Given the description of an element on the screen output the (x, y) to click on. 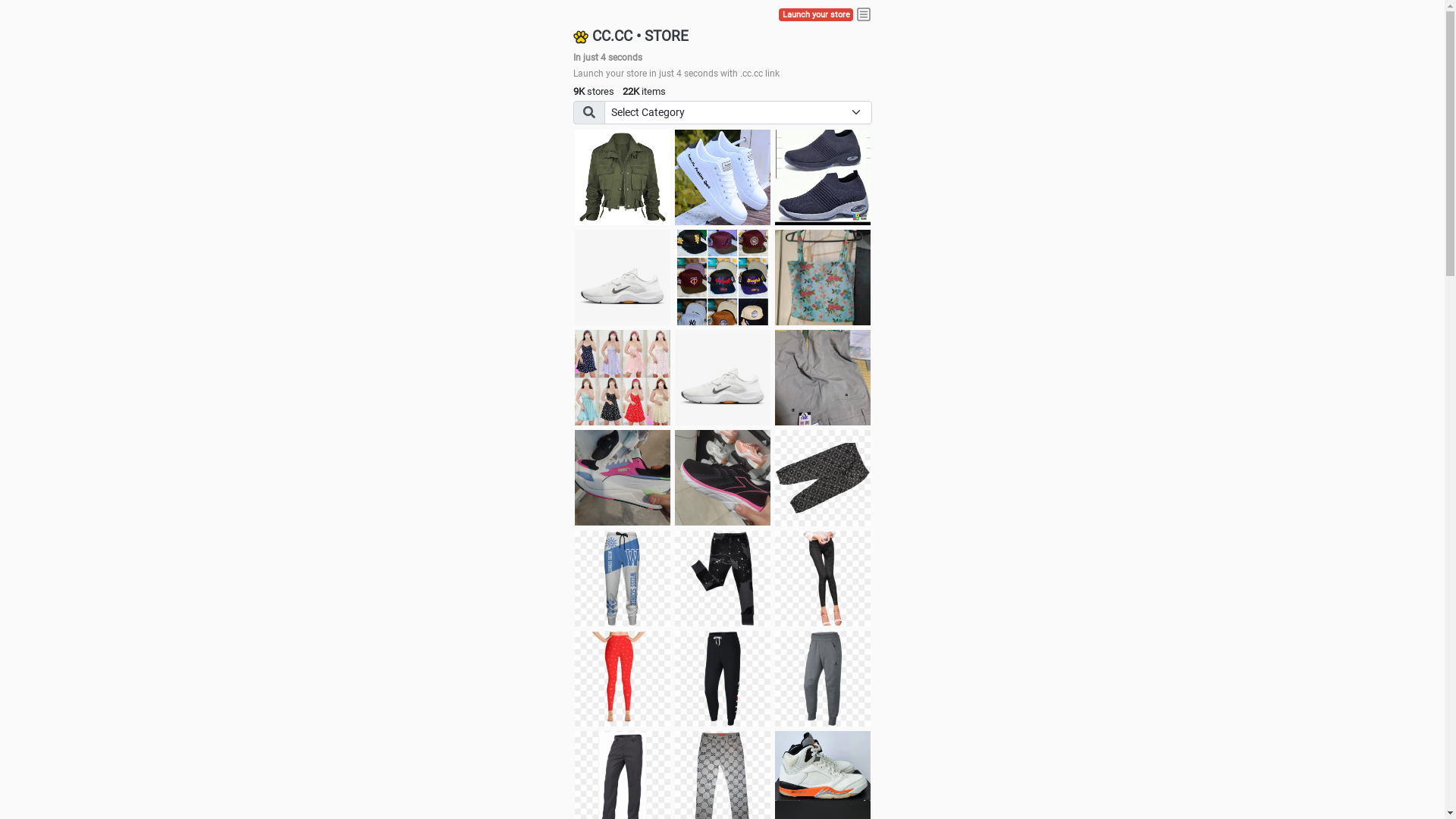
Pant Element type: hover (622, 678)
white shoes Element type: hover (722, 177)
Pant Element type: hover (822, 578)
Shoes for boys Element type: hover (622, 277)
Short pant Element type: hover (822, 477)
Ukay cloth Element type: hover (822, 277)
Pant Element type: hover (822, 678)
Zapatillas pumas Element type: hover (622, 477)
jacket Element type: hover (622, 177)
Launch your store Element type: text (815, 14)
Shoes Element type: hover (722, 377)
Zapatillas Element type: hover (722, 477)
Pant Element type: hover (722, 578)
Dress/square nect top Element type: hover (622, 377)
shoes for boys Element type: hover (822, 177)
Pant Element type: hover (722, 678)
Things we need Element type: hover (722, 277)
Pant Element type: hover (622, 578)
